Given the description of an element on the screen output the (x, y) to click on. 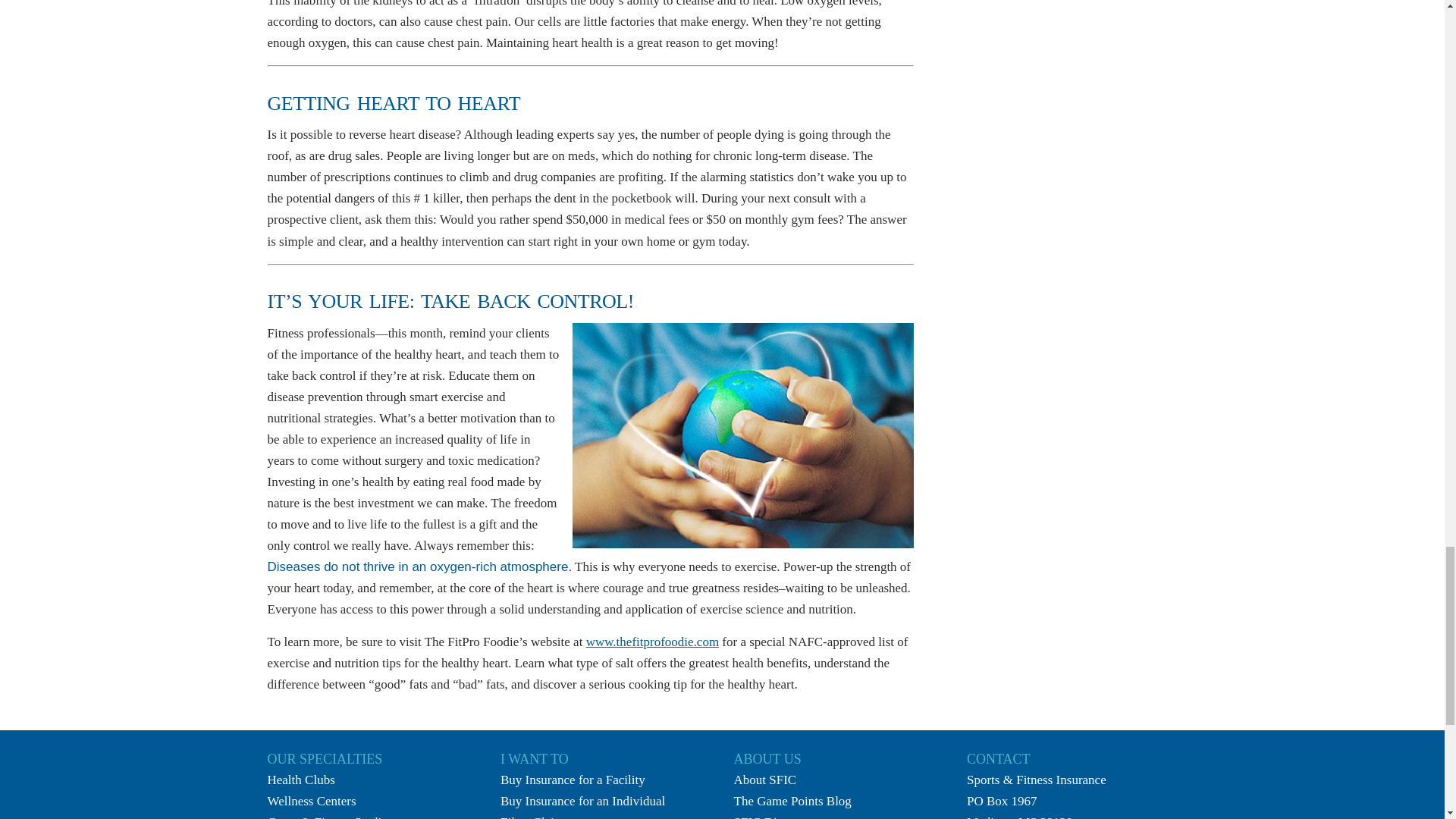
Visit www.thefitprofoodie.com (652, 641)
